Given the description of an element on the screen output the (x, y) to click on. 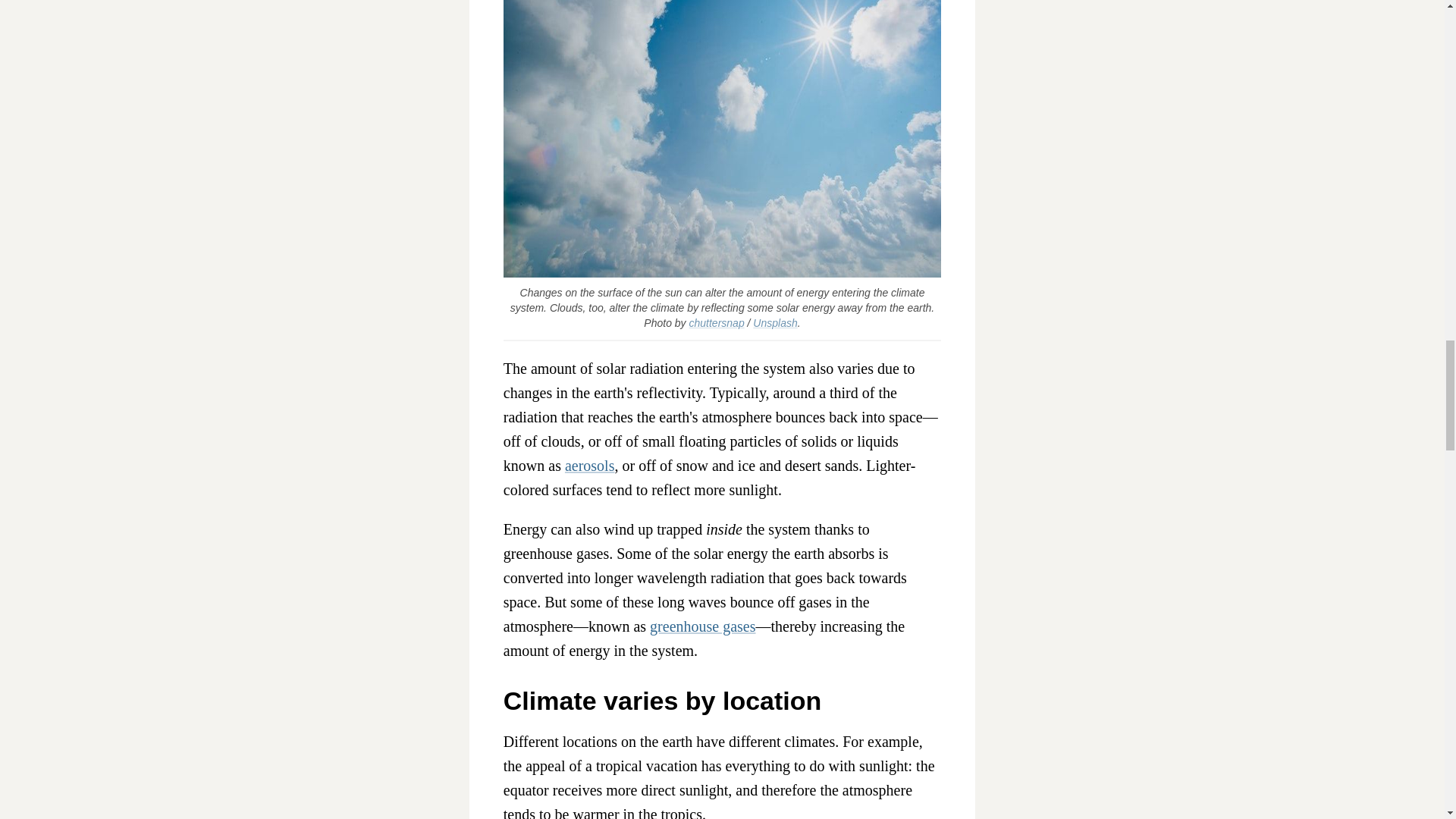
aerosols (589, 465)
greenhouse gases (702, 626)
Unsplash (774, 322)
chuttersnap (716, 322)
